Given the description of an element on the screen output the (x, y) to click on. 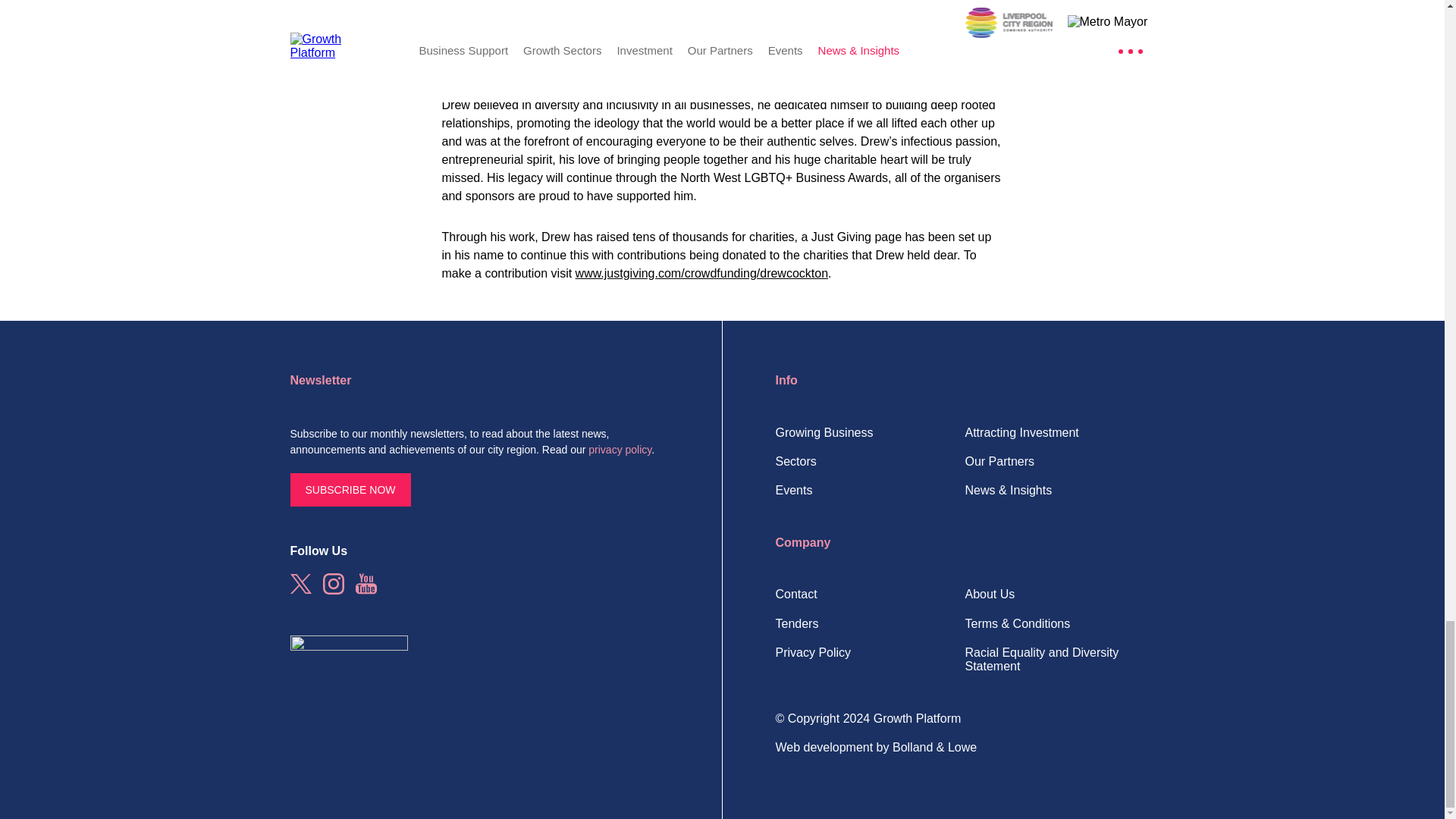
Growth Platform on Instagram (333, 583)
Growth Platform on YouTube (365, 583)
Growth Platform on Twitter (300, 583)
